Given the description of an element on the screen output the (x, y) to click on. 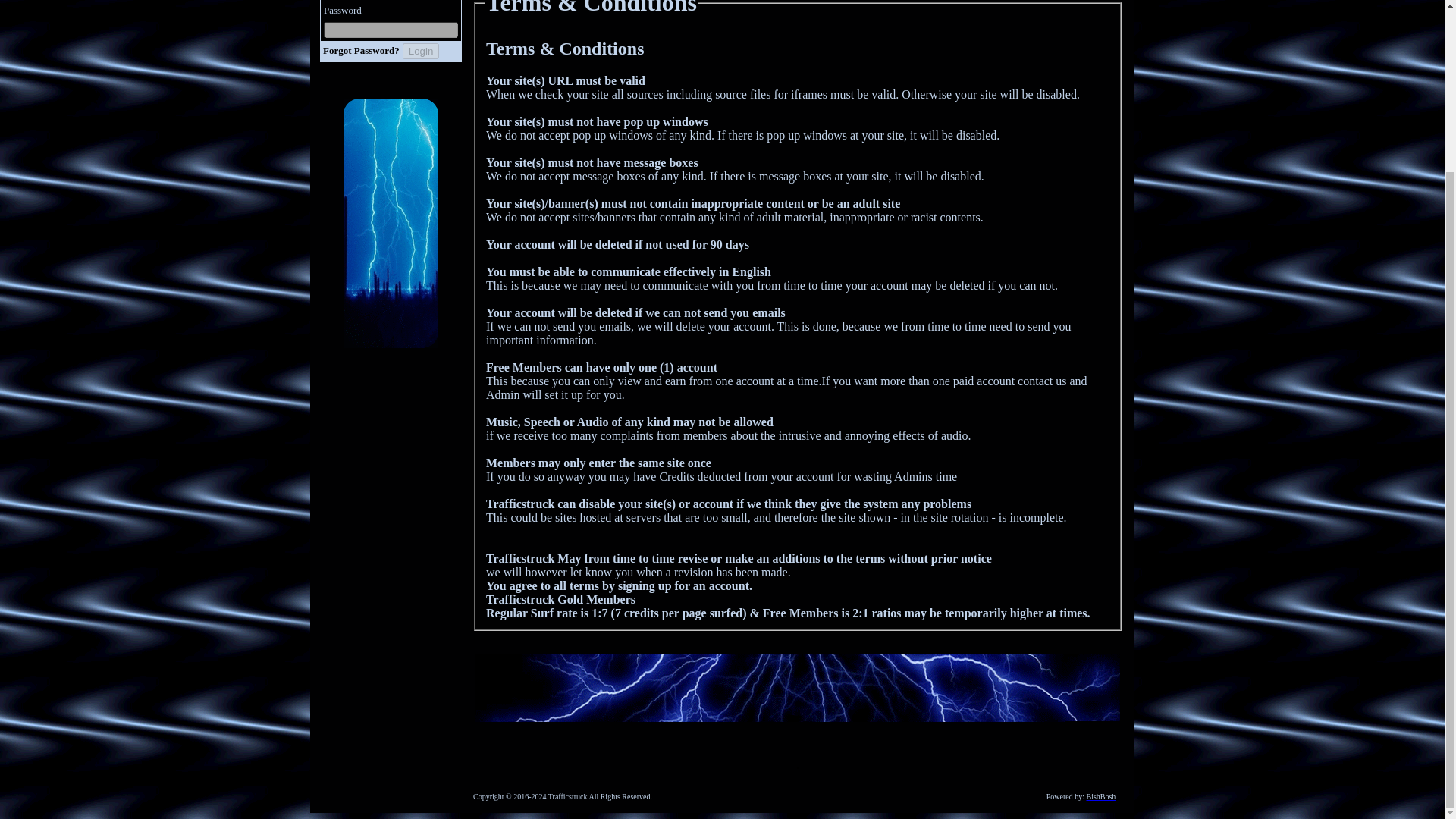
Login (421, 50)
Login (421, 50)
Forgot Password? (360, 49)
BishBosh (1100, 796)
